Given the description of an element on the screen output the (x, y) to click on. 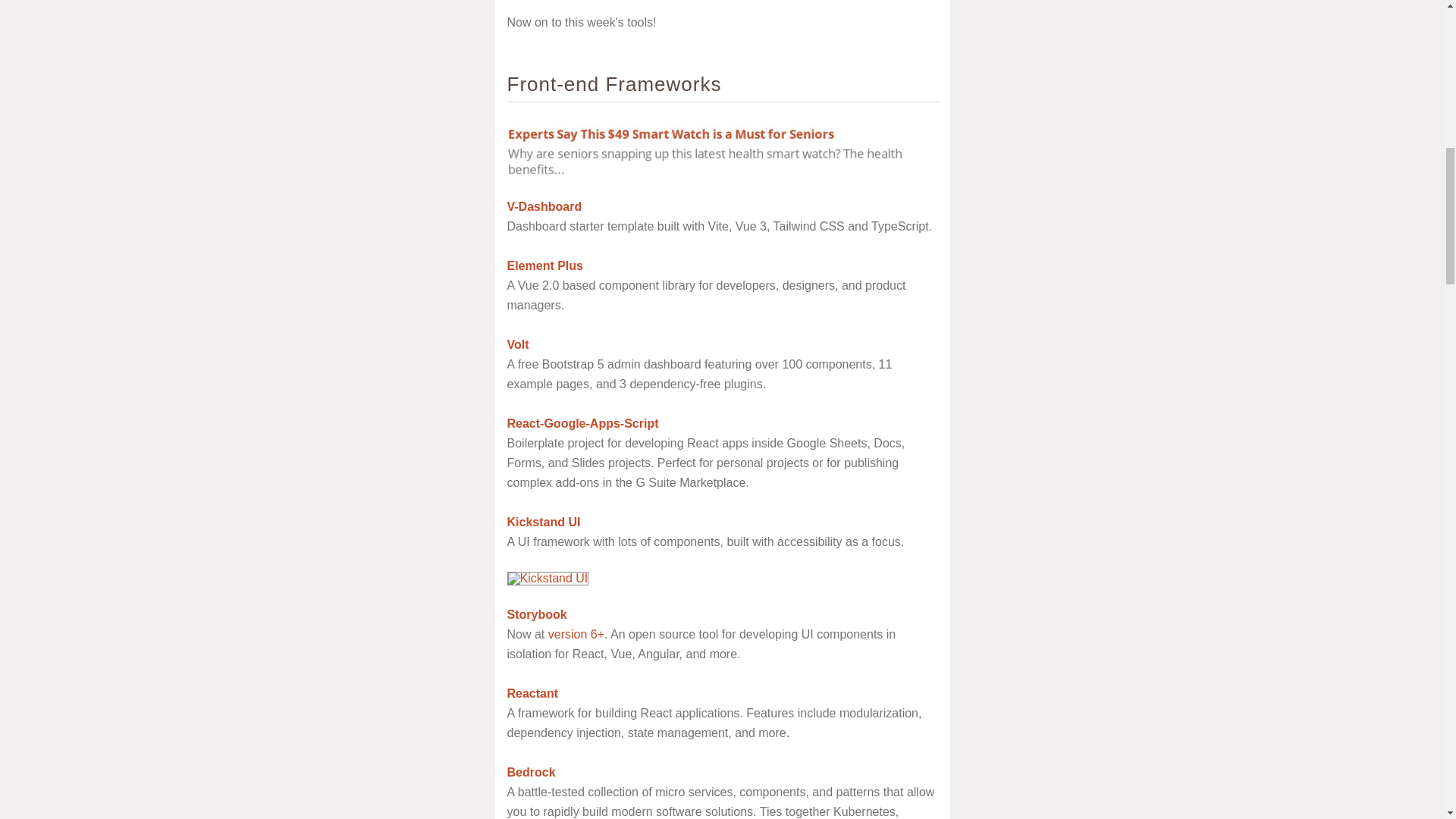
Kickstand UI (542, 521)
V-Dashboard (543, 205)
React-Google-Apps-Script (582, 422)
Reactant (531, 693)
Bedrock (530, 771)
Volt (517, 344)
Element Plus (544, 265)
Storybook (536, 614)
